Given the description of an element on the screen output the (x, y) to click on. 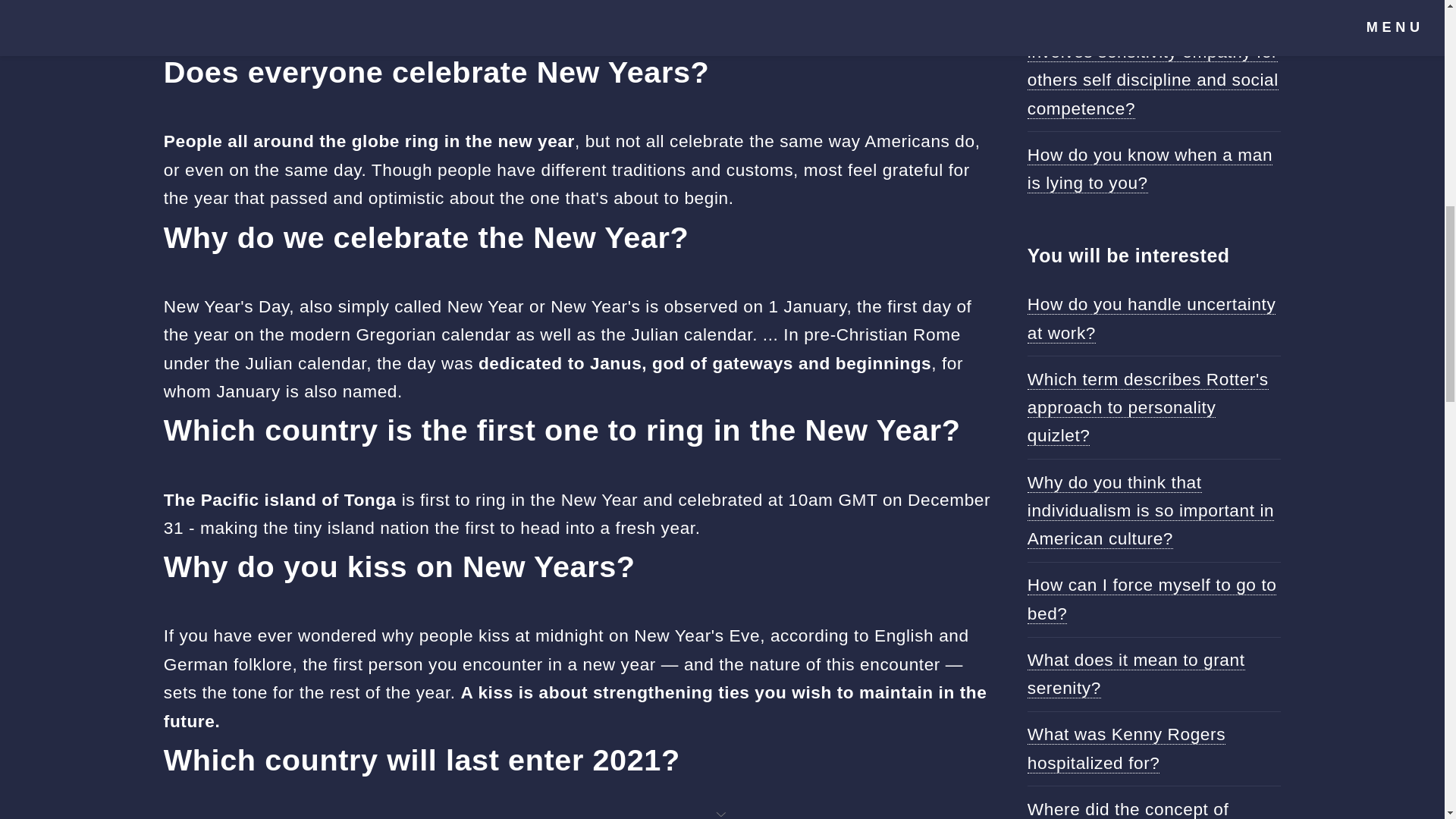
What was Kenny Rogers hospitalized for? (1126, 748)
How do you know when a man is lying to you? (1149, 168)
How can I force myself to go to bed? (1151, 598)
What does it mean to grant serenity? (1135, 674)
How do you handle uncertainty at work? (1151, 318)
Where did the concept of karma originate? (1127, 809)
